Given the description of an element on the screen output the (x, y) to click on. 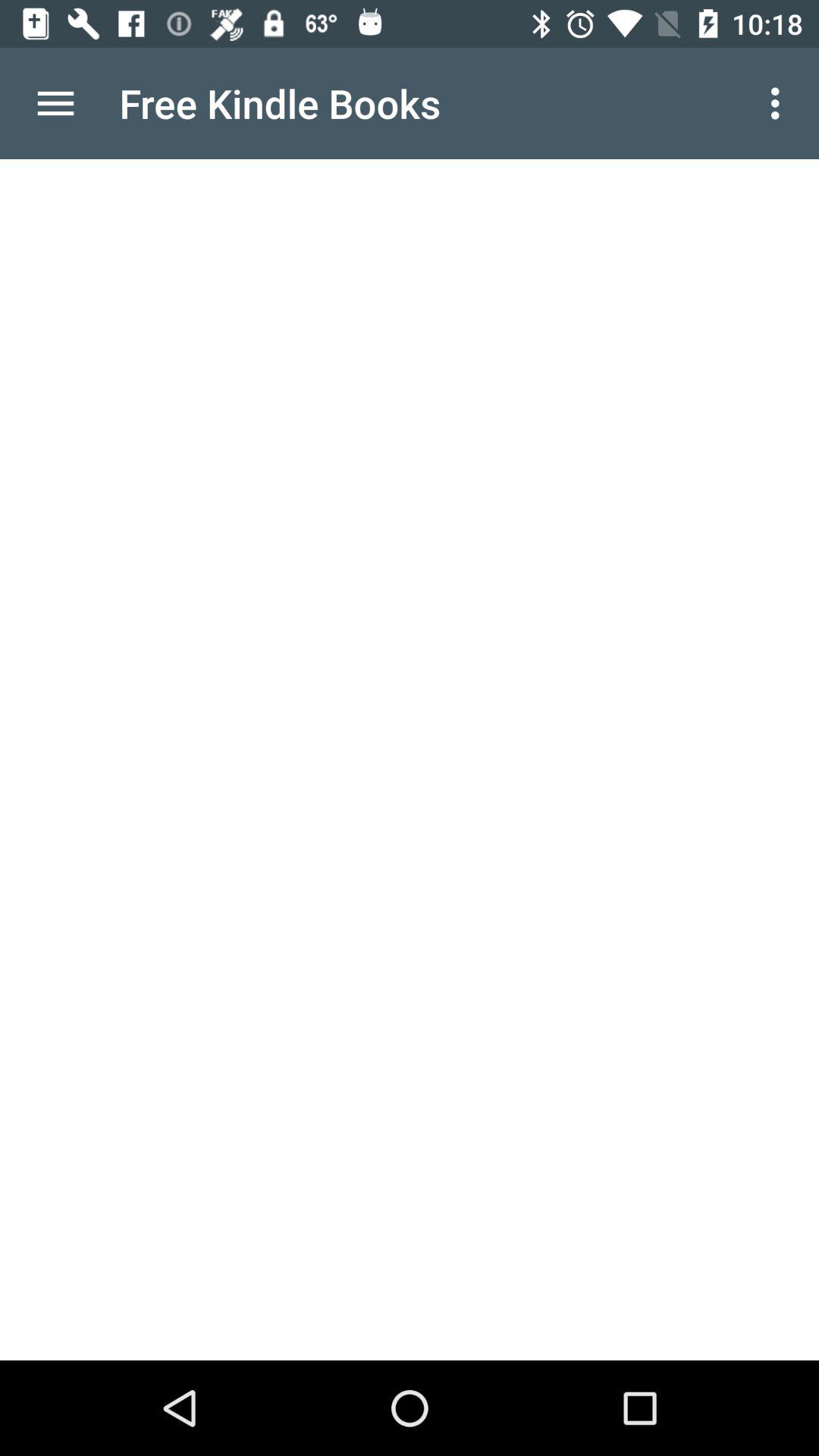
turn off item to the right of free kindle books item (779, 103)
